Given the description of an element on the screen output the (x, y) to click on. 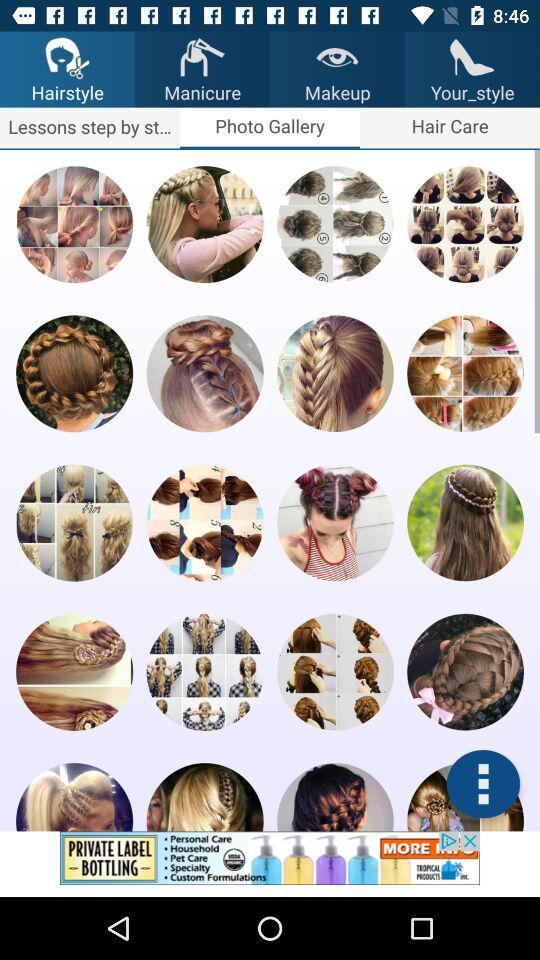
hairstyles thumbnail (465, 224)
